Given the description of an element on the screen output the (x, y) to click on. 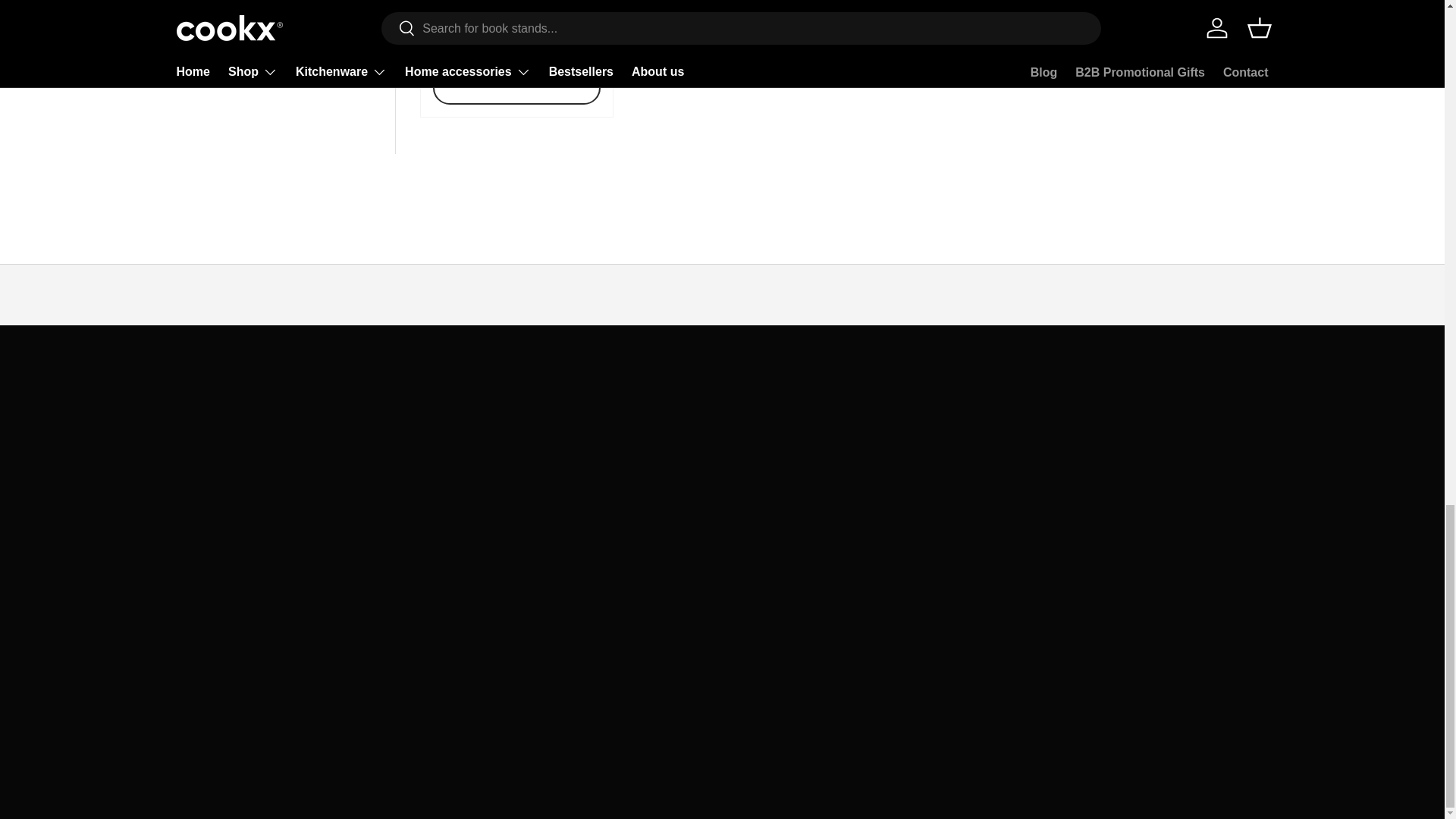
Matte black (442, 45)
Natural color oak (468, 45)
